Given the description of an element on the screen output the (x, y) to click on. 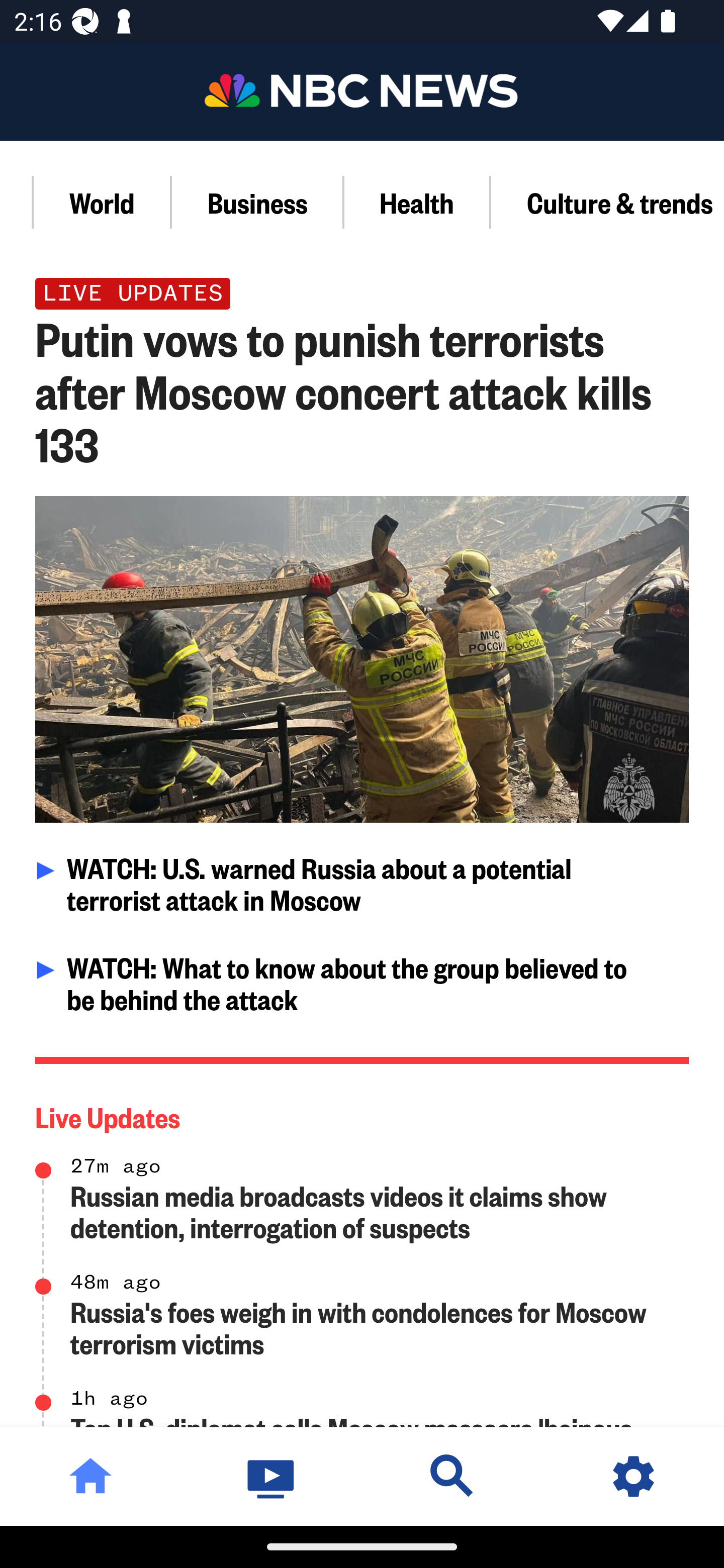
World Section,World (103, 202)
Business Section,Business (258, 202)
Health Section,Health (417, 202)
Culture & trends Section,Culture & trends (607, 202)
Live Updates (363, 1113)
Watch (271, 1475)
Discover (452, 1475)
Settings (633, 1475)
